Given the description of an element on the screen output the (x, y) to click on. 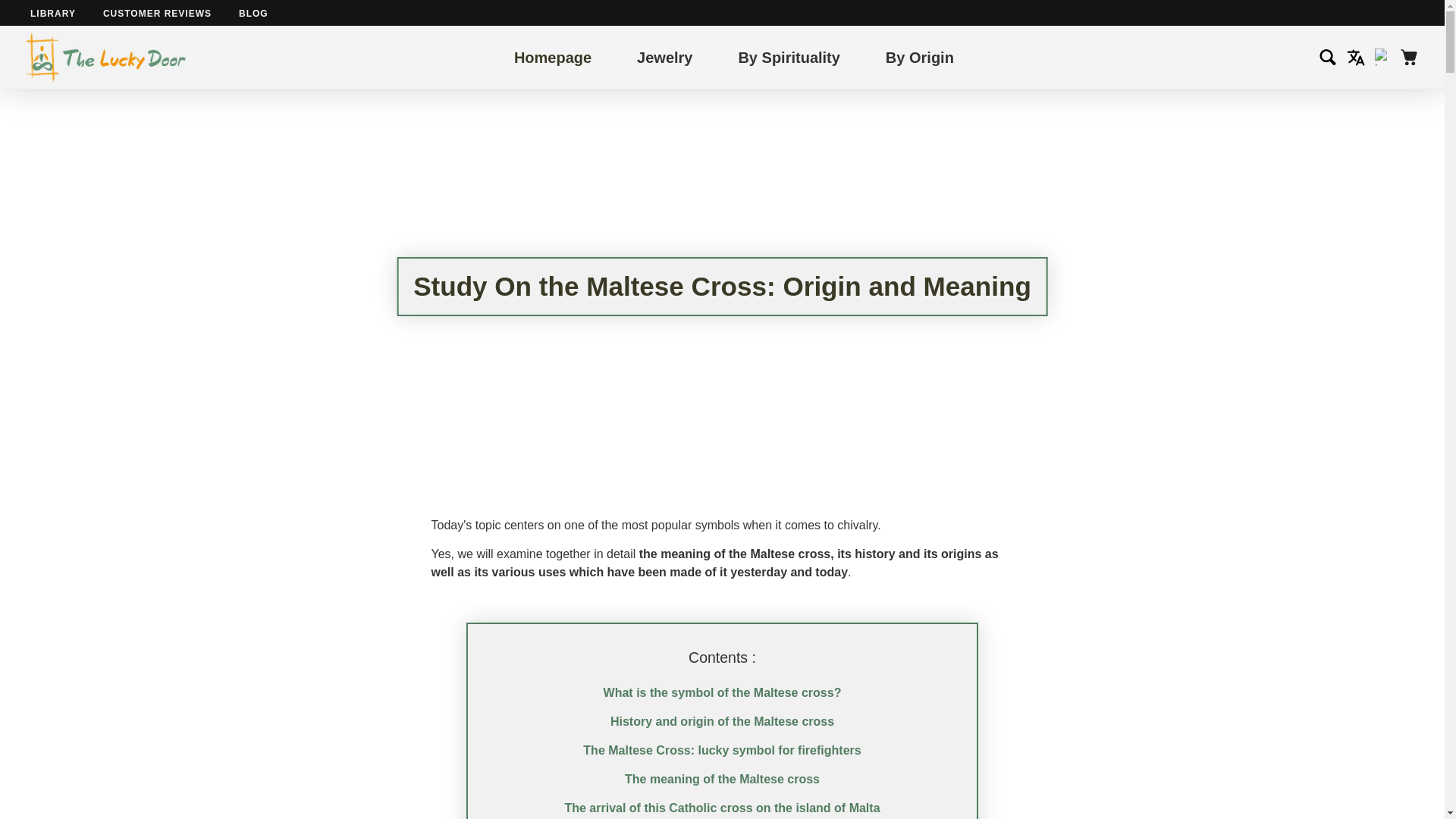
By Origin (918, 56)
BLOG (252, 13)
Homepage (552, 56)
By Spirituality (788, 56)
Jewelry (664, 56)
CUSTOMER REVIEWS (157, 13)
Homepage (552, 56)
LIBRARY (52, 13)
